Given the description of an element on the screen output the (x, y) to click on. 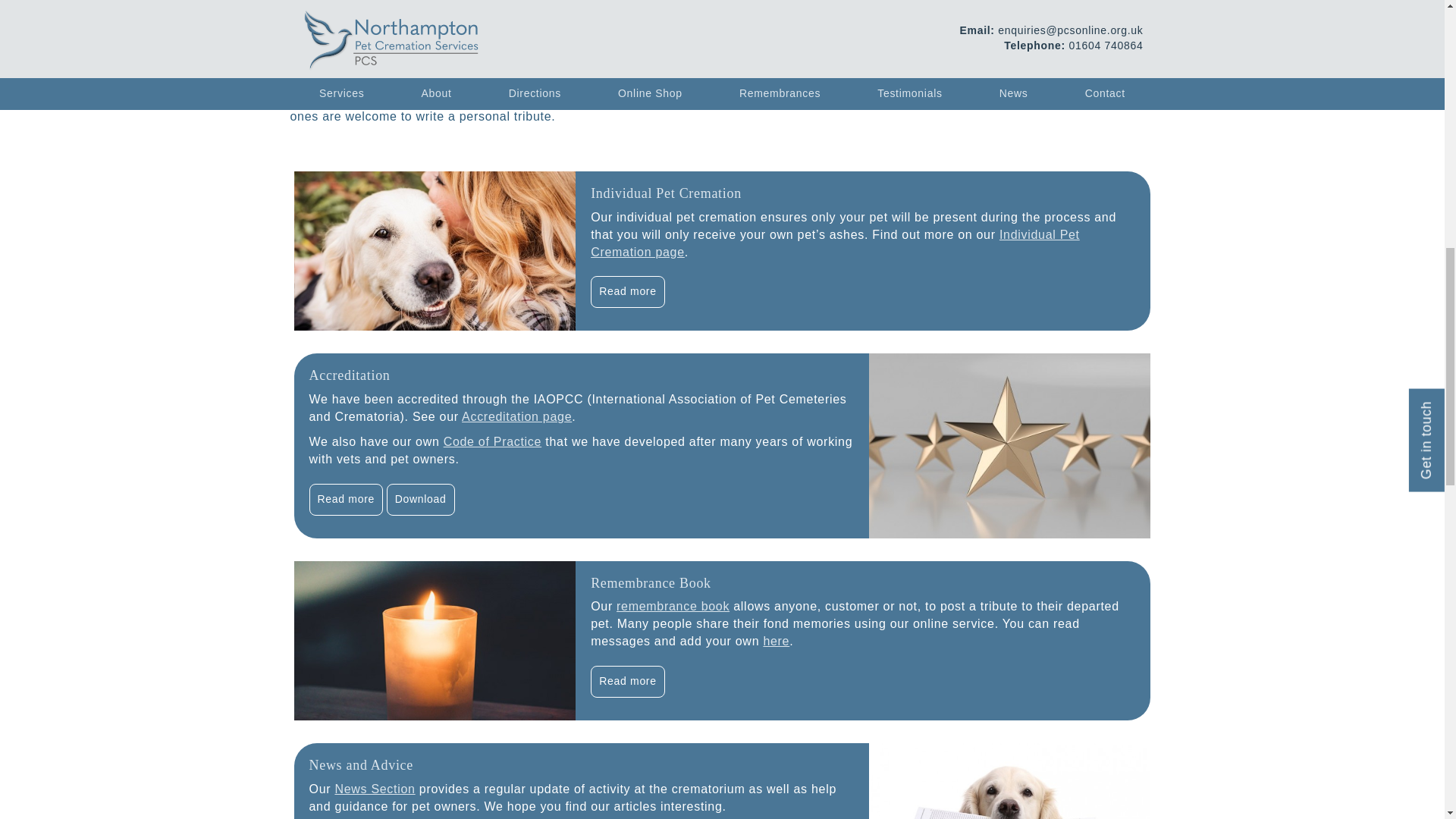
here (775, 640)
Read more (345, 499)
Remembrance Book (651, 582)
Read more (627, 291)
Accreditation (349, 375)
Accreditation page (516, 416)
Code of Practice (492, 440)
Download (420, 499)
Individual Pet Cremation (666, 192)
remembrance book (672, 605)
Individual Pet Cremation page (835, 243)
